Given the description of an element on the screen output the (x, y) to click on. 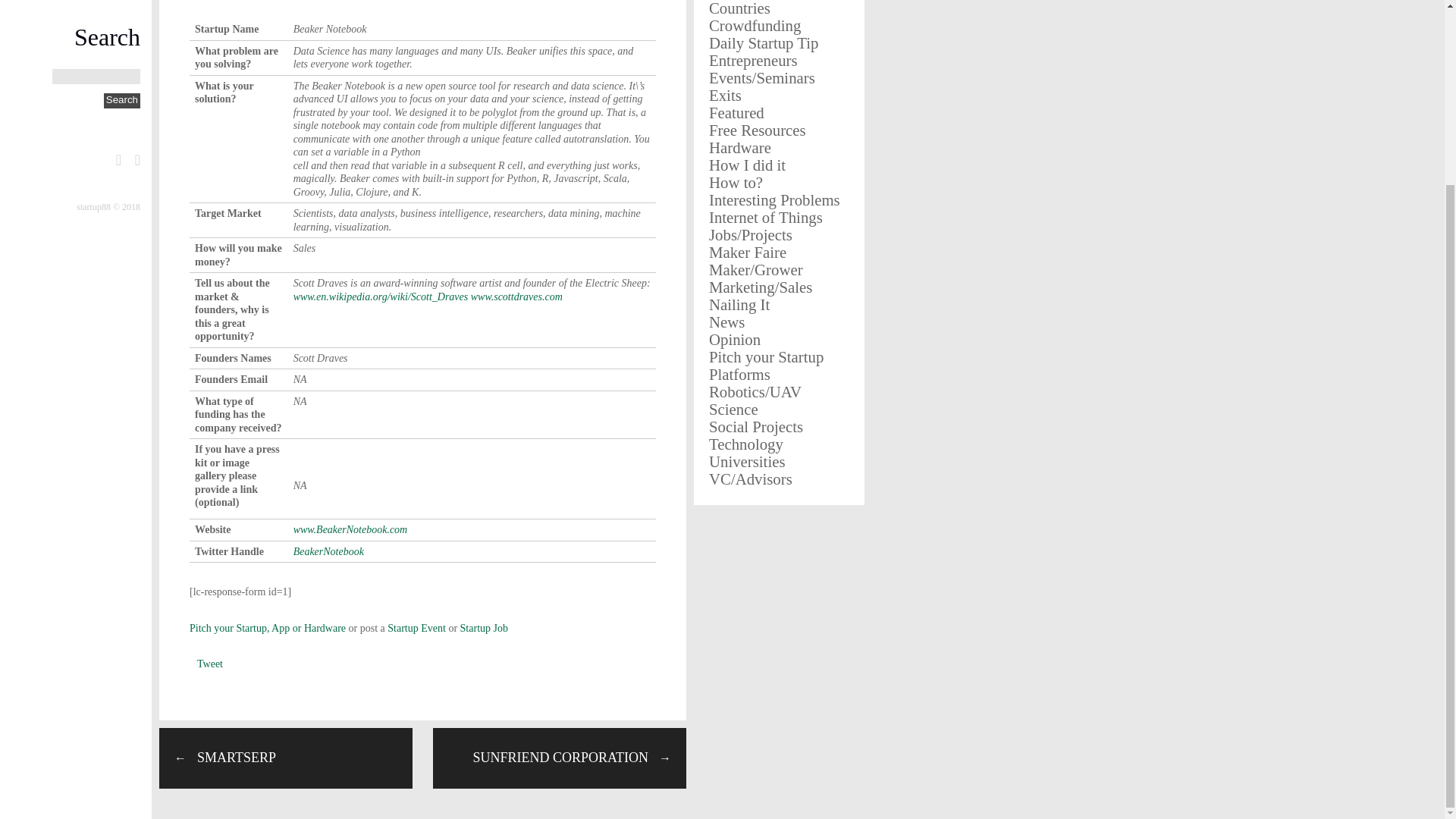
Free Resources (757, 129)
Crowdfunding (754, 25)
Countries (739, 8)
SmartSERP (285, 757)
Search (121, 100)
Entrepreneurs (753, 59)
Featured (736, 112)
www.scottdraves.com (516, 296)
Startup Job (484, 627)
SunFriend Corporation (558, 757)
